Given the description of an element on the screen output the (x, y) to click on. 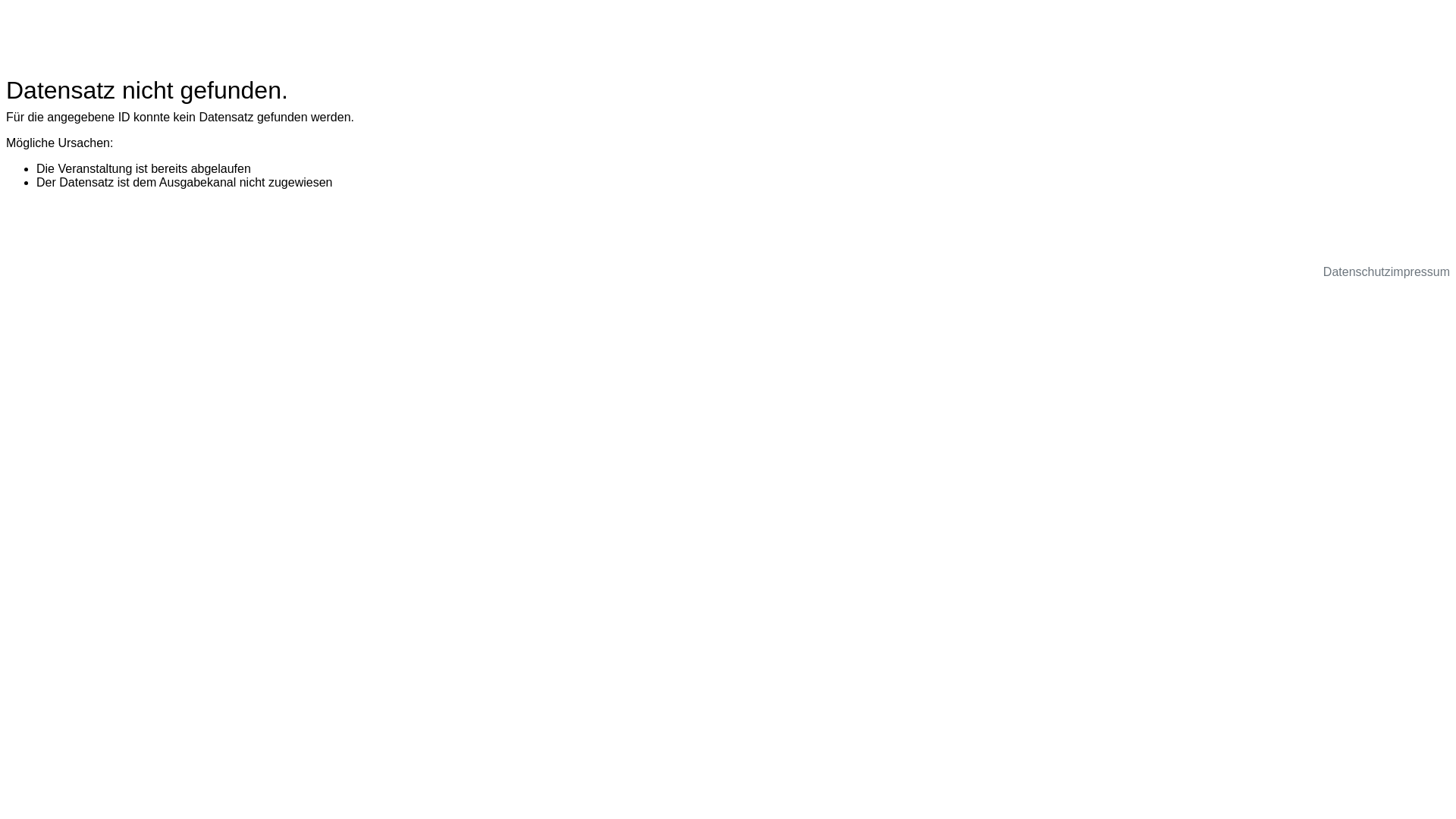
Datenschutzimpressum Element type: text (1386, 271)
